Given the description of an element on the screen output the (x, y) to click on. 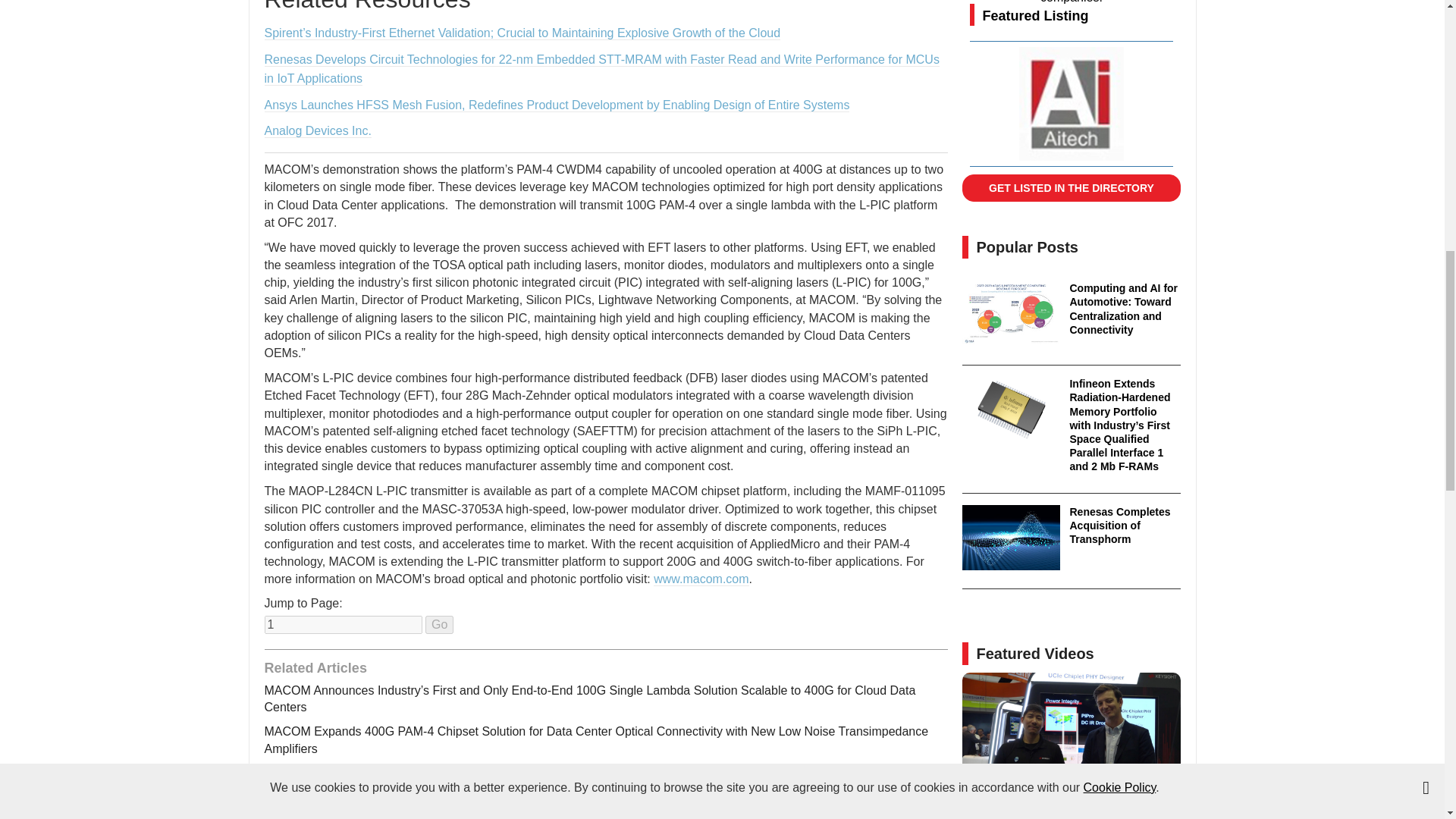
Go (438, 624)
Infineon 6-19-24.png (1010, 409)
1 (342, 624)
Yole-6-21-24.jpg (1010, 313)
Waves 600x400 2-27-23.jpg (1010, 537)
